Given the description of an element on the screen output the (x, y) to click on. 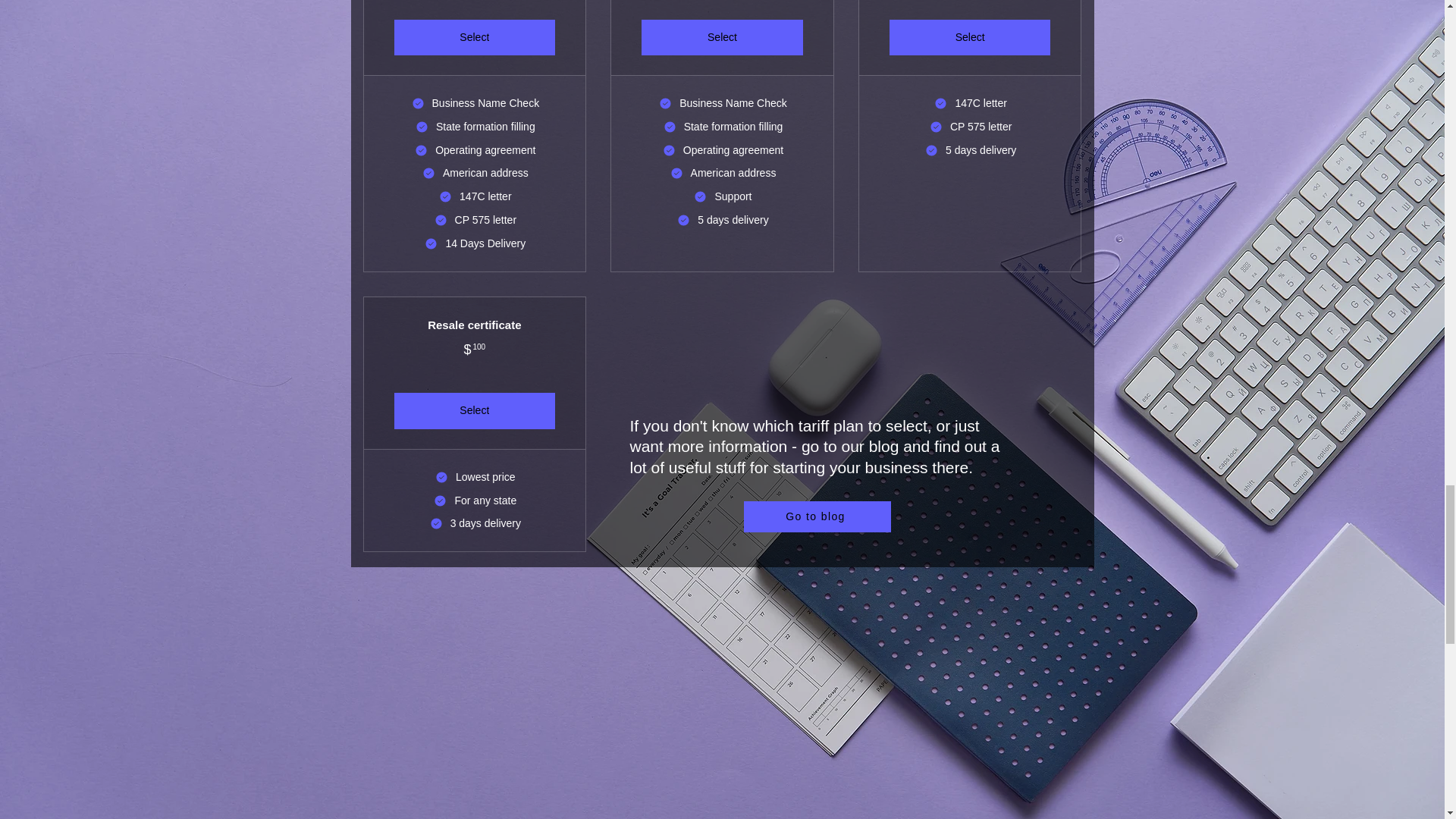
Go to blog (815, 516)
Select (970, 37)
Select (475, 411)
Select (722, 37)
Select (475, 37)
